Given the description of an element on the screen output the (x, y) to click on. 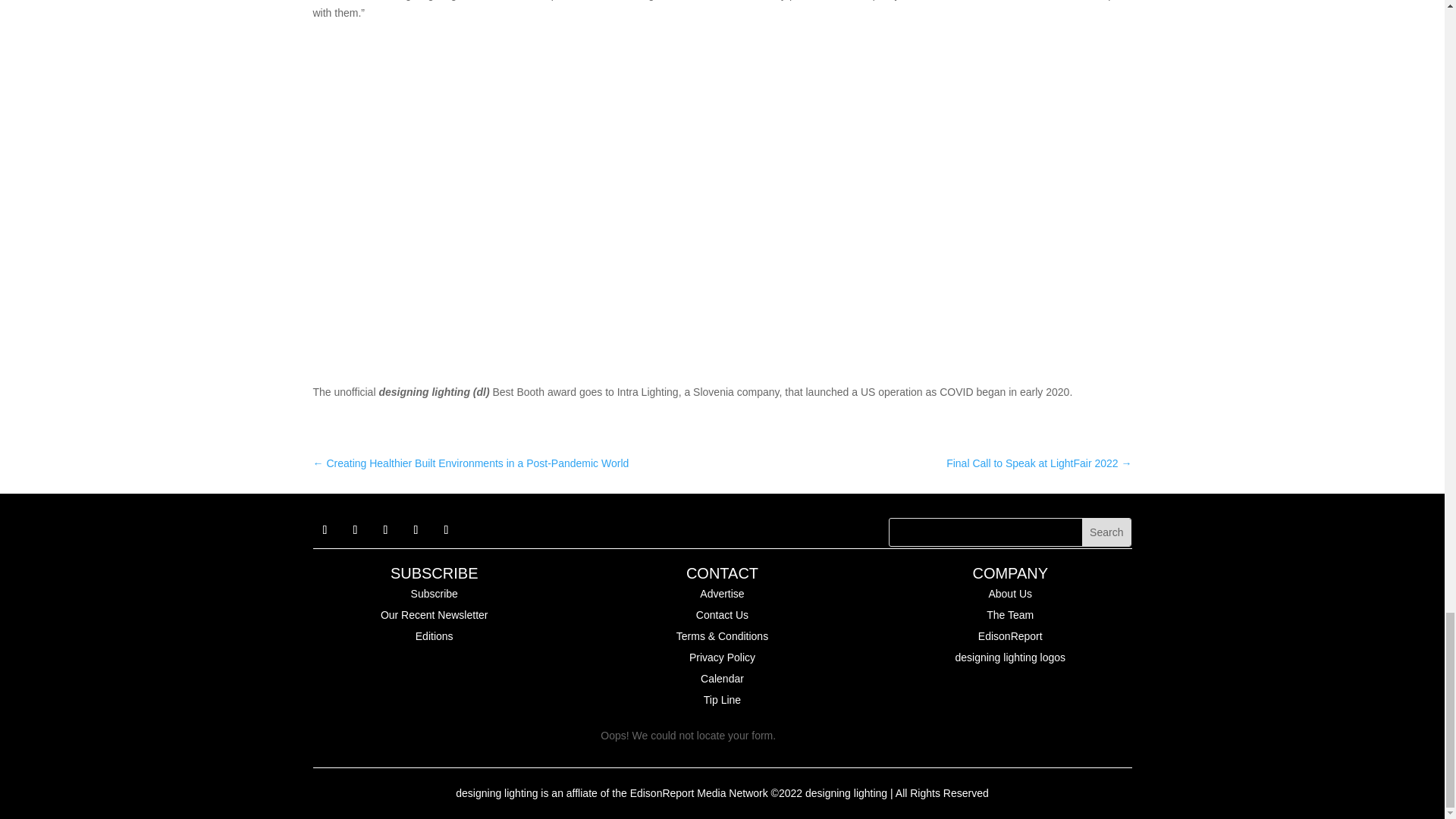
Follow on LinkedIn (384, 529)
Search (1106, 532)
Follow on Facebook (324, 529)
Follow on Instagram (445, 529)
Follow on X (354, 529)
Search (1106, 532)
Follow on Pinterest (415, 529)
